Given the description of an element on the screen output the (x, y) to click on. 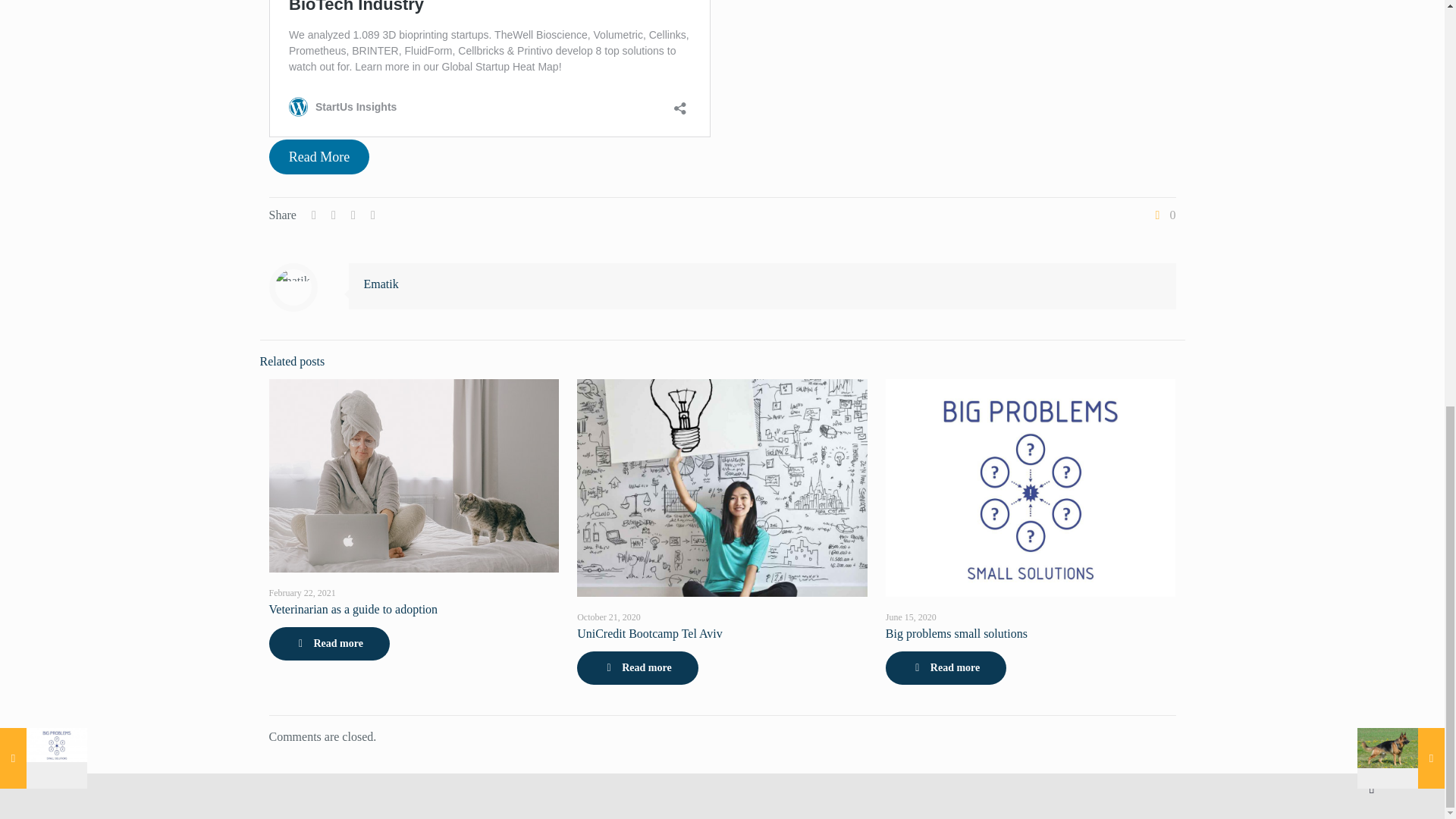
Read More (319, 156)
